Given the description of an element on the screen output the (x, y) to click on. 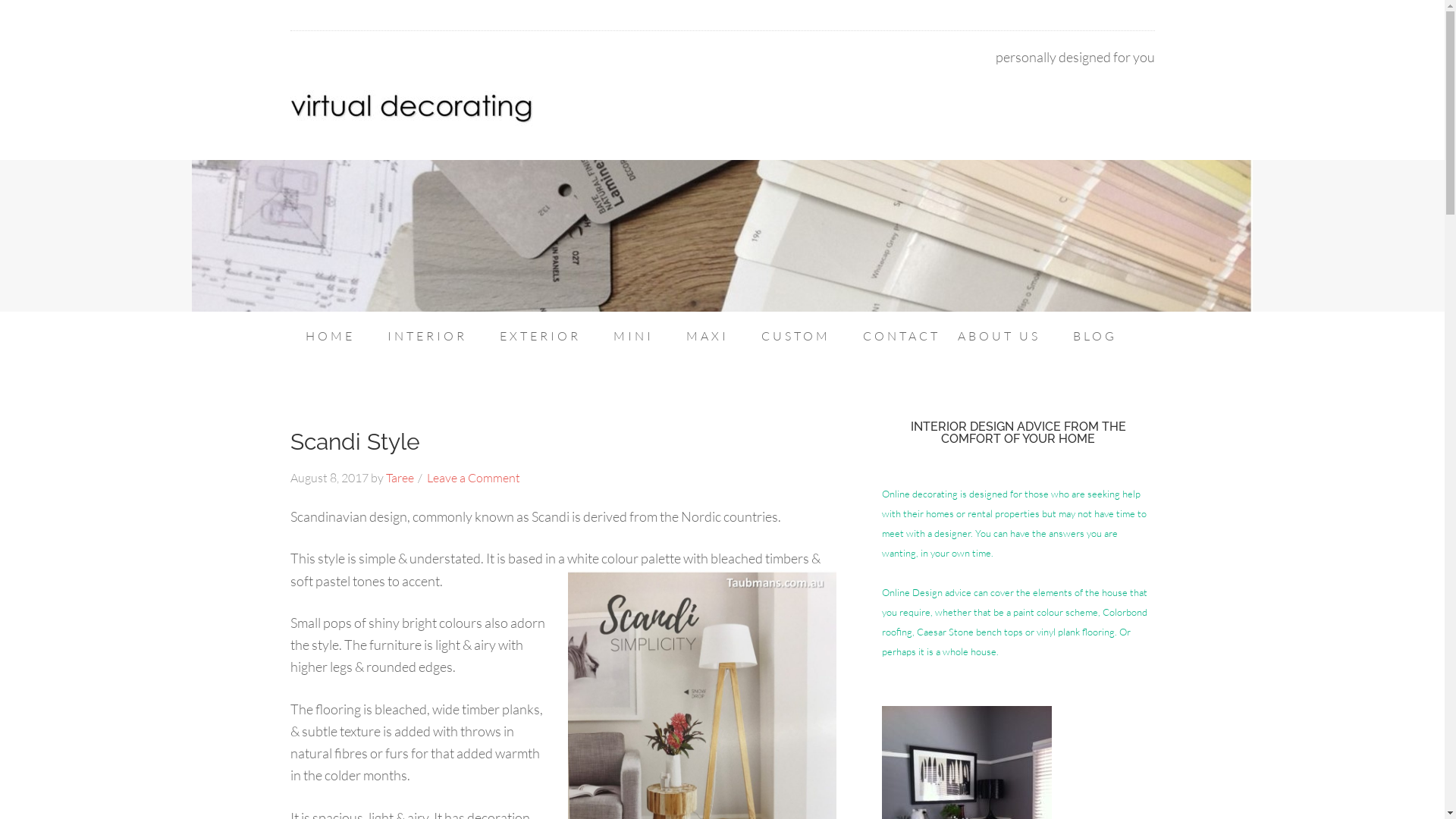
MINI Element type: text (632, 335)
Taree Element type: text (399, 477)
CUSTOM Element type: text (795, 335)
EXTERIOR Element type: text (539, 335)
BLOG Element type: text (1094, 335)
MAXI Element type: text (706, 335)
CONTACT Element type: text (893, 335)
ABOUT US Element type: text (997, 335)
Leave a Comment Element type: text (472, 477)
HOME Element type: text (329, 335)
INTERIOR Element type: text (426, 335)
Online Interior Designer Element type: text (410, 98)
